Given the description of an element on the screen output the (x, y) to click on. 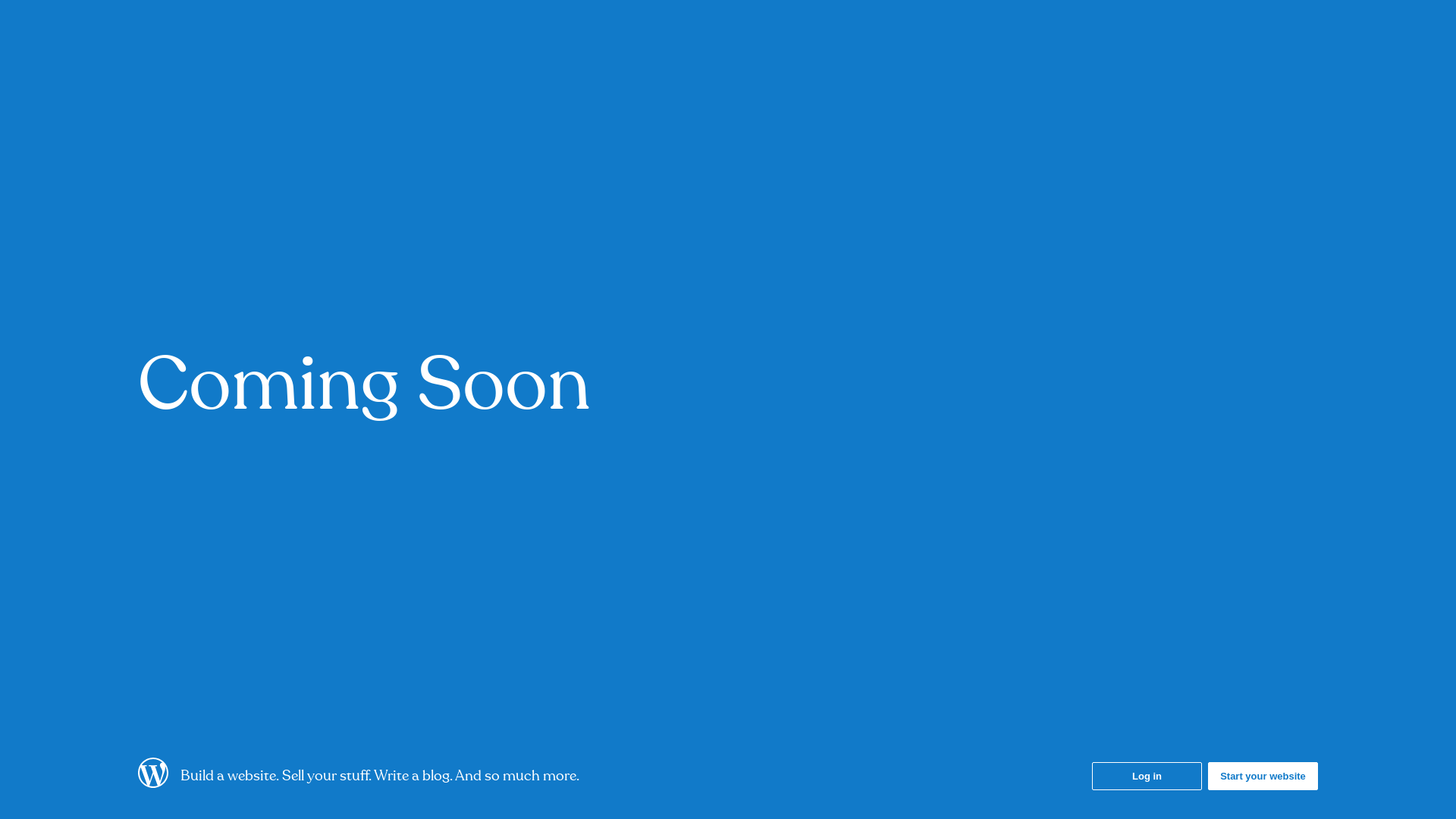
Start your website Element type: text (1262, 776)
Log in Element type: text (1146, 776)
WordPress.com Element type: text (153, 782)
